Given the description of an element on the screen output the (x, y) to click on. 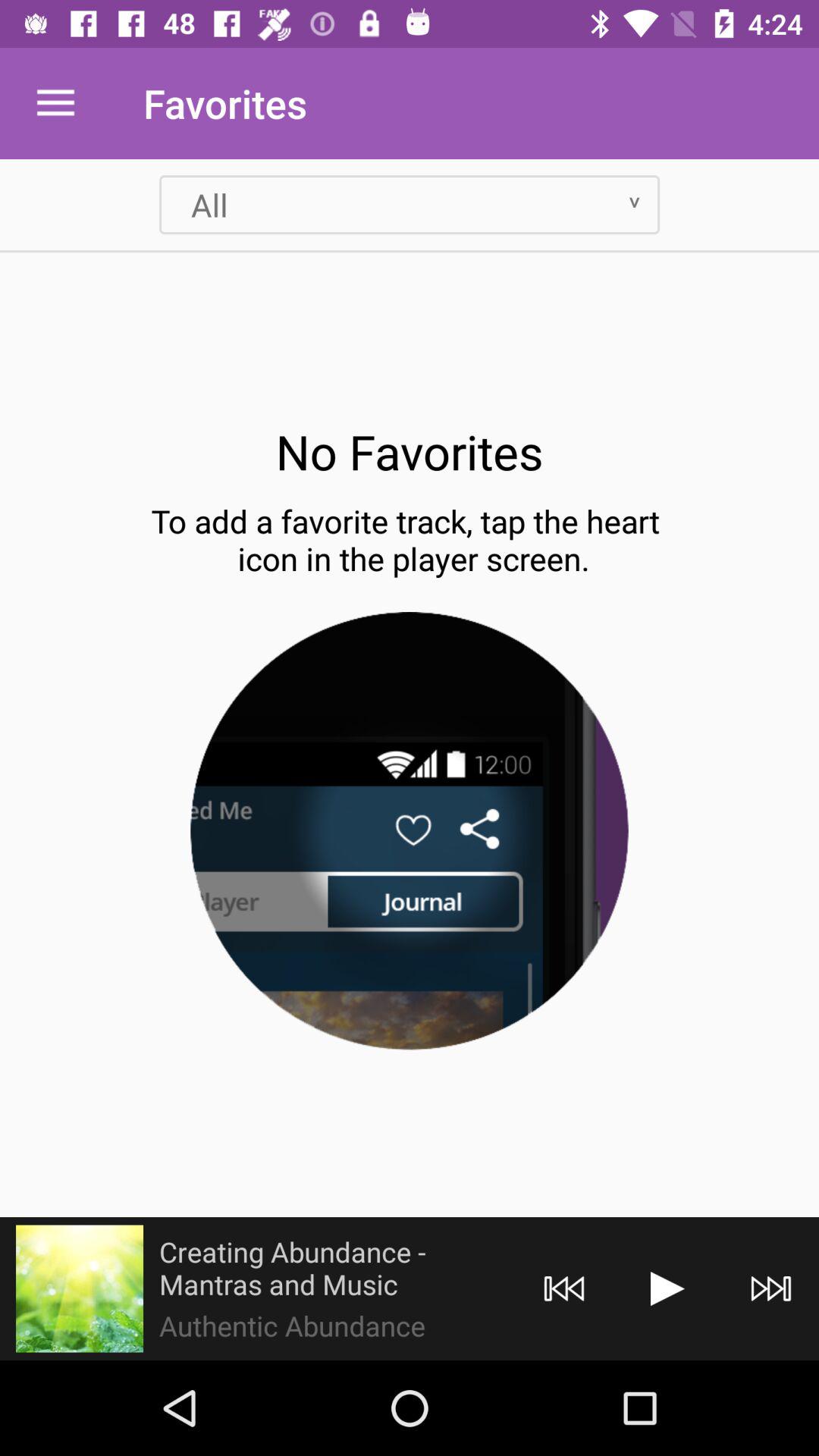
rewind (564, 1288)
